Given the description of an element on the screen output the (x, y) to click on. 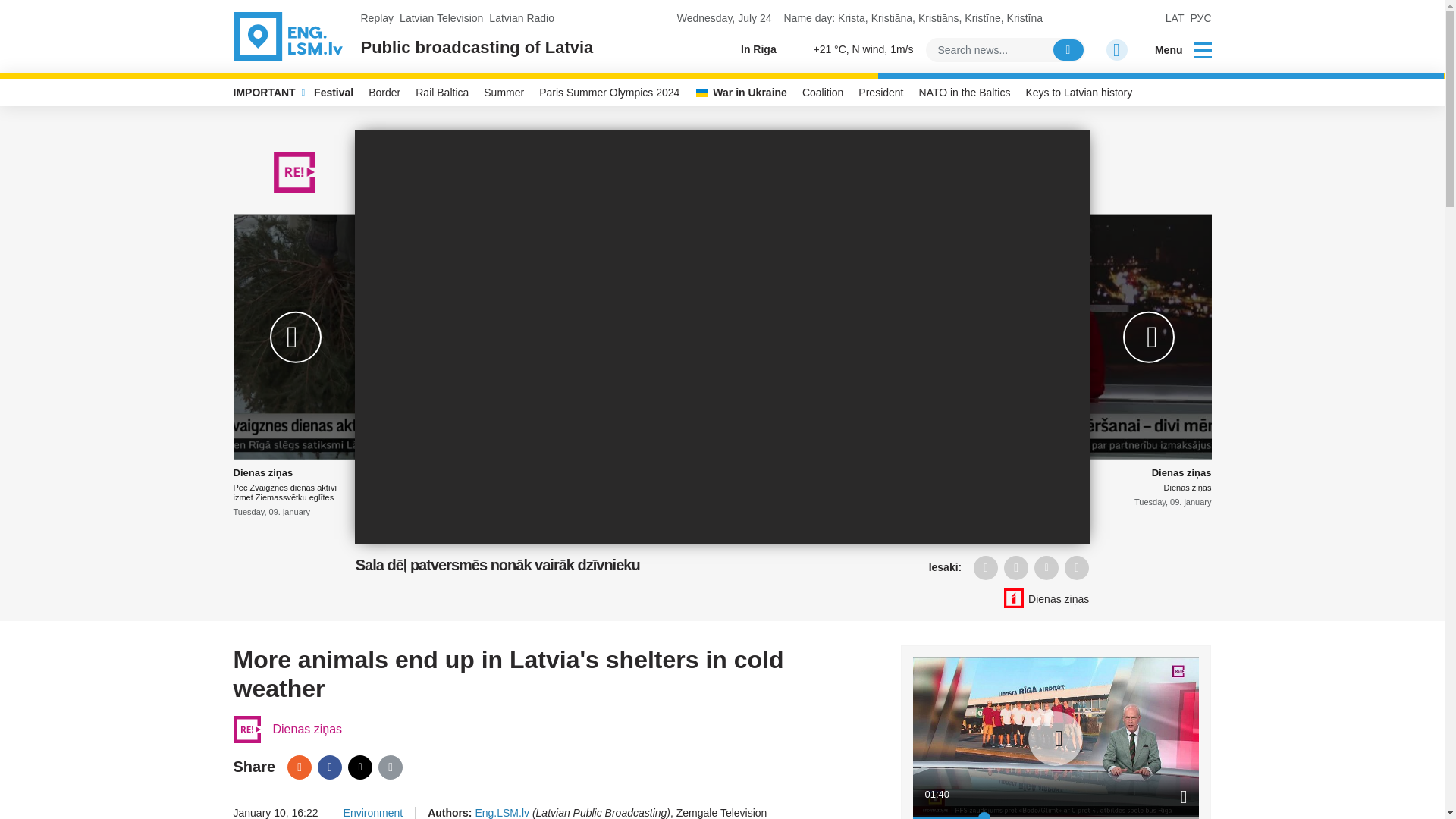
Latvian Radio (521, 18)
Paris Summer Olympics 2024 (609, 92)
X (359, 767)
War in Ukraine (740, 92)
X (1045, 567)
Coalition (822, 92)
Draugiem (985, 567)
Topics (1202, 49)
Keys to Latvian history (1078, 92)
Rail Baltica (441, 92)
Menu (1173, 50)
Border (384, 92)
Latvian Television (440, 18)
Facebook (1015, 567)
Facebook (329, 767)
